Given the description of an element on the screen output the (x, y) to click on. 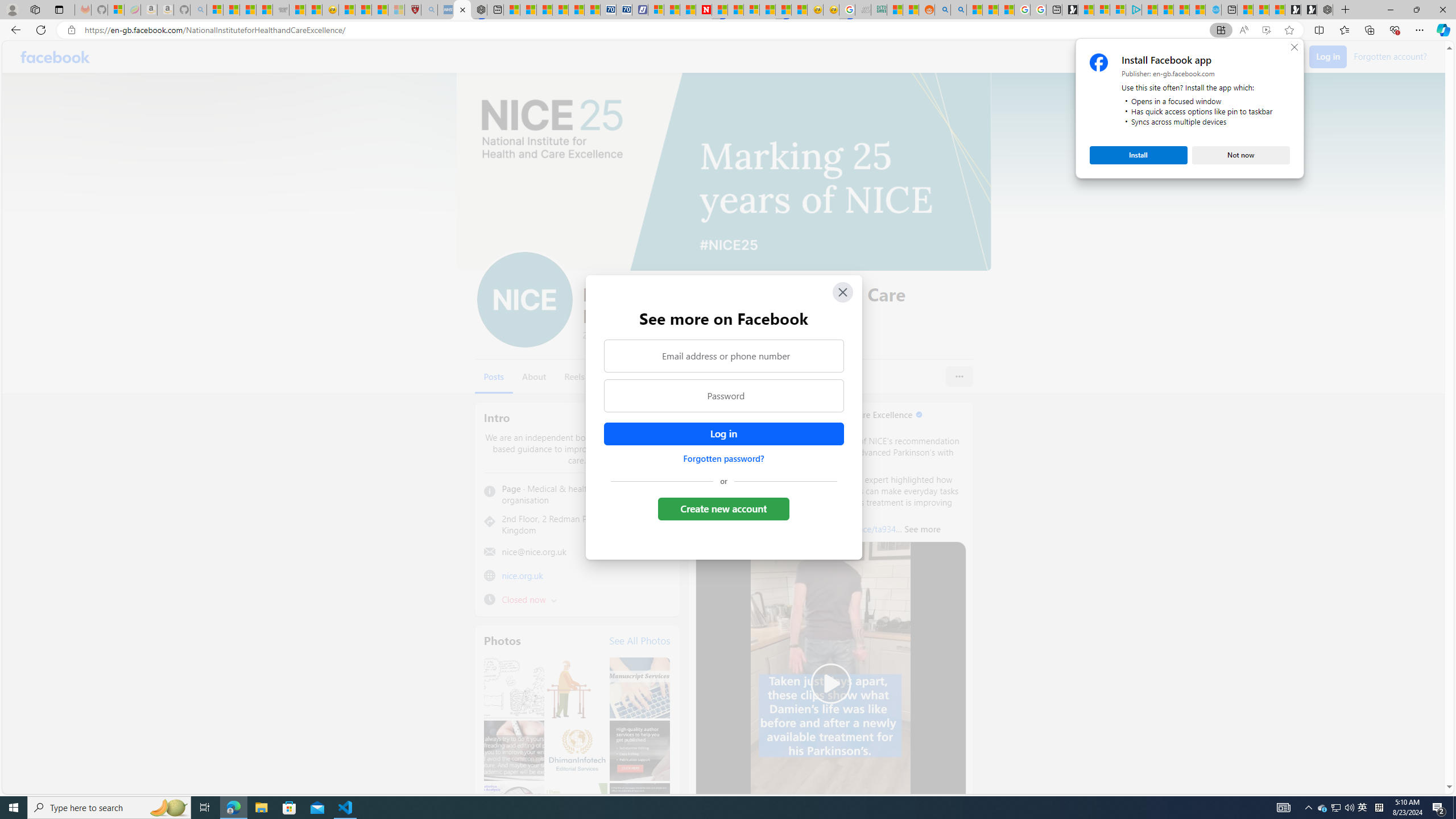
Forgotten account? (1390, 55)
Install (1138, 154)
